Given the description of an element on the screen output the (x, y) to click on. 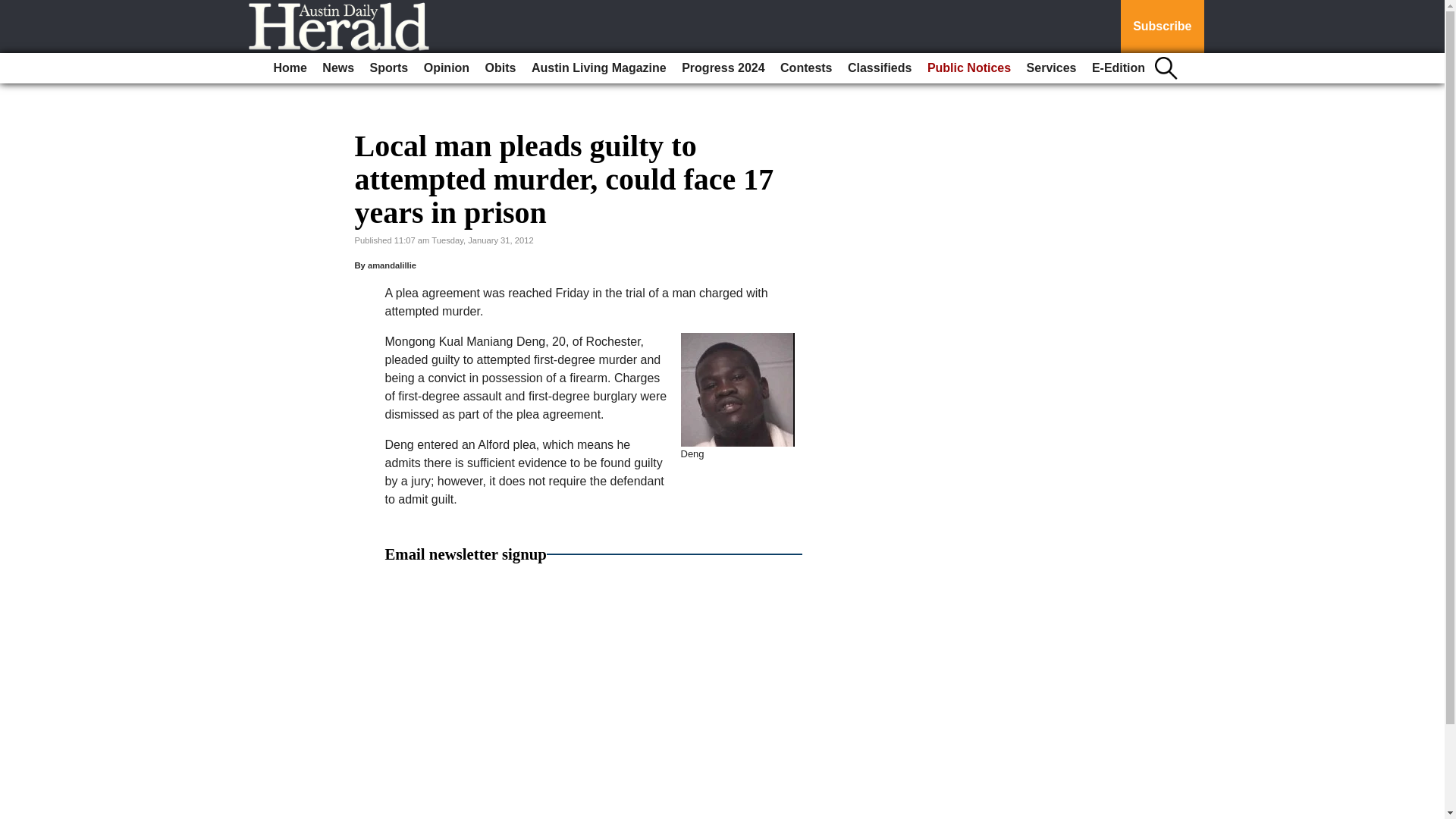
Progress 2024 (722, 68)
Deng (737, 389)
Classifieds (879, 68)
Public Notices (968, 68)
Subscribe (1162, 26)
News (337, 68)
Contests (806, 68)
Home (289, 68)
Sports (389, 68)
Opinion (446, 68)
